Given the description of an element on the screen output the (x, y) to click on. 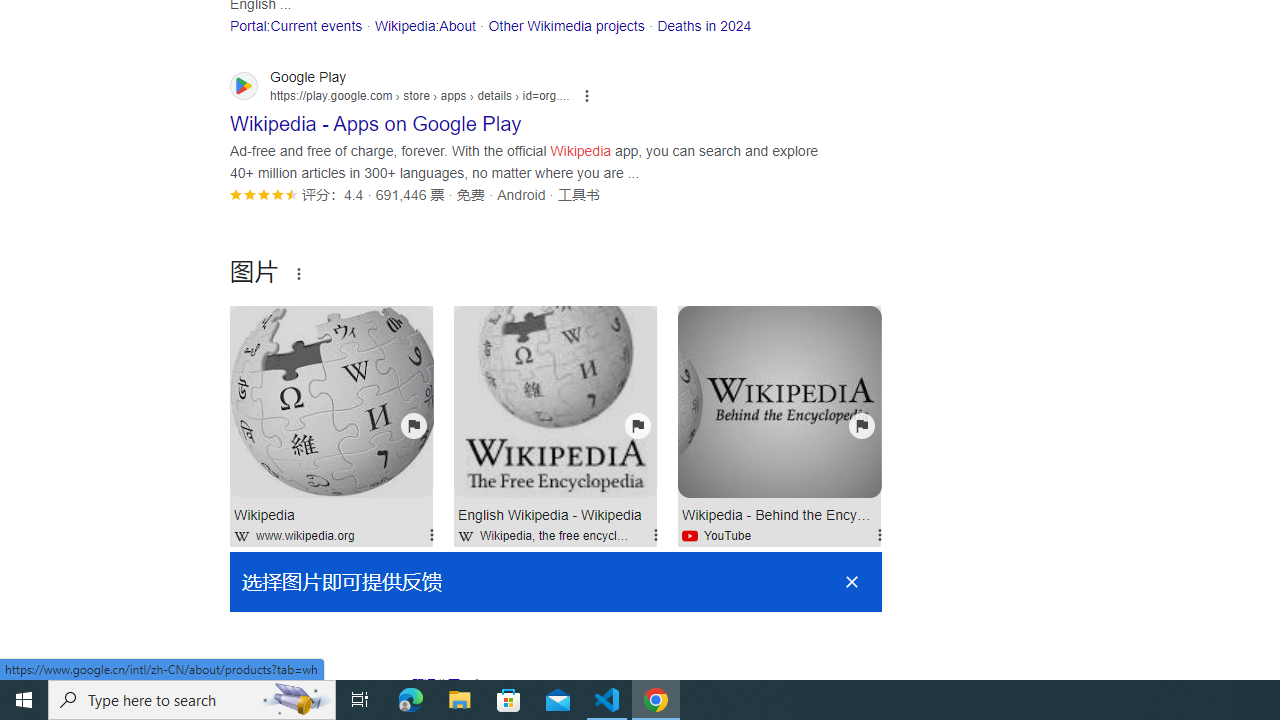
Wikipedia:About (424, 25)
Deaths in 2024 (704, 25)
Portal:Current events (296, 25)
Other Wikimedia projects (566, 25)
